Given the description of an element on the screen output the (x, y) to click on. 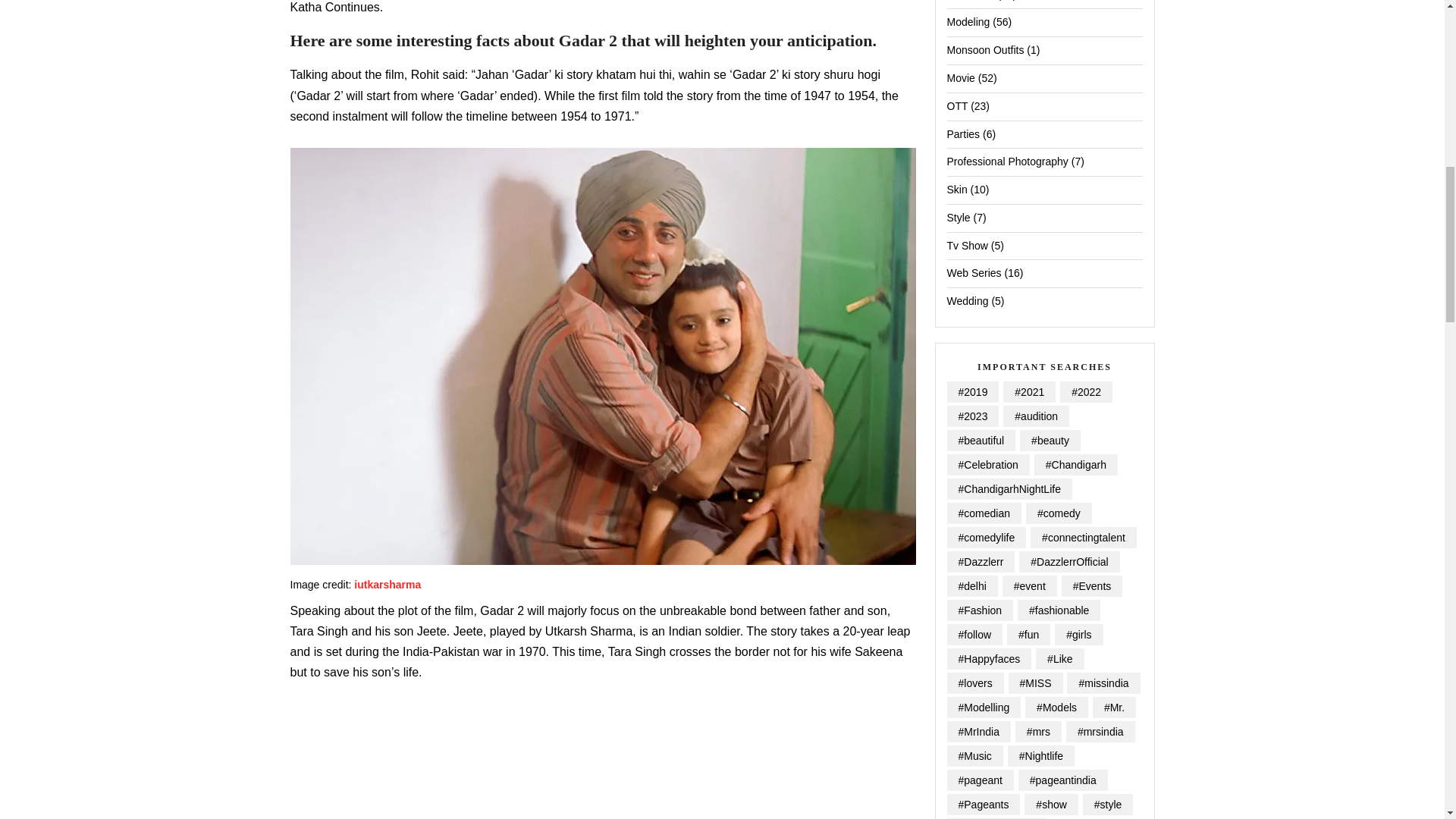
iutkarsharma (386, 584)
